Given the description of an element on the screen output the (x, y) to click on. 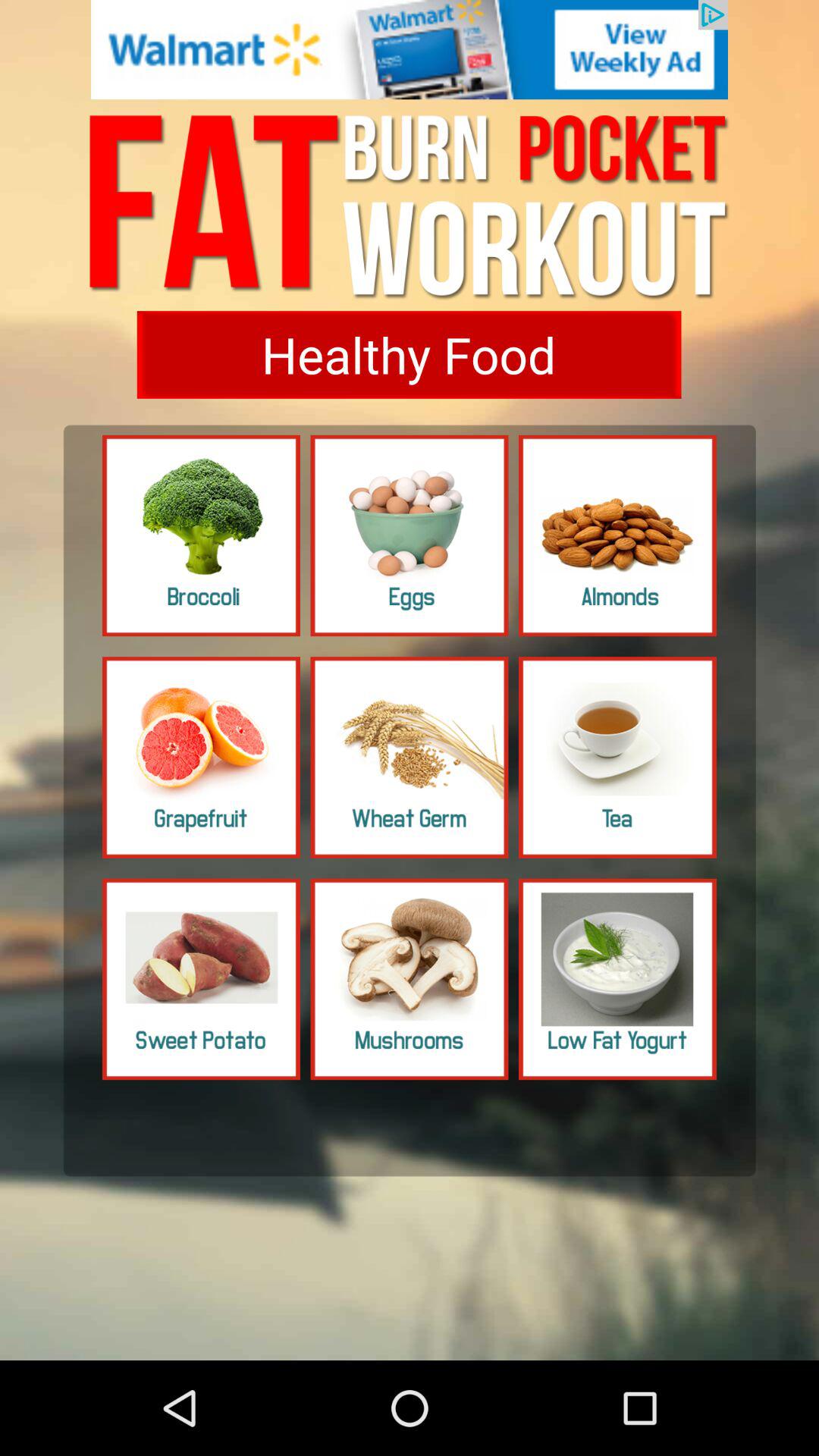
click advertisement (409, 49)
